Given the description of an element on the screen output the (x, y) to click on. 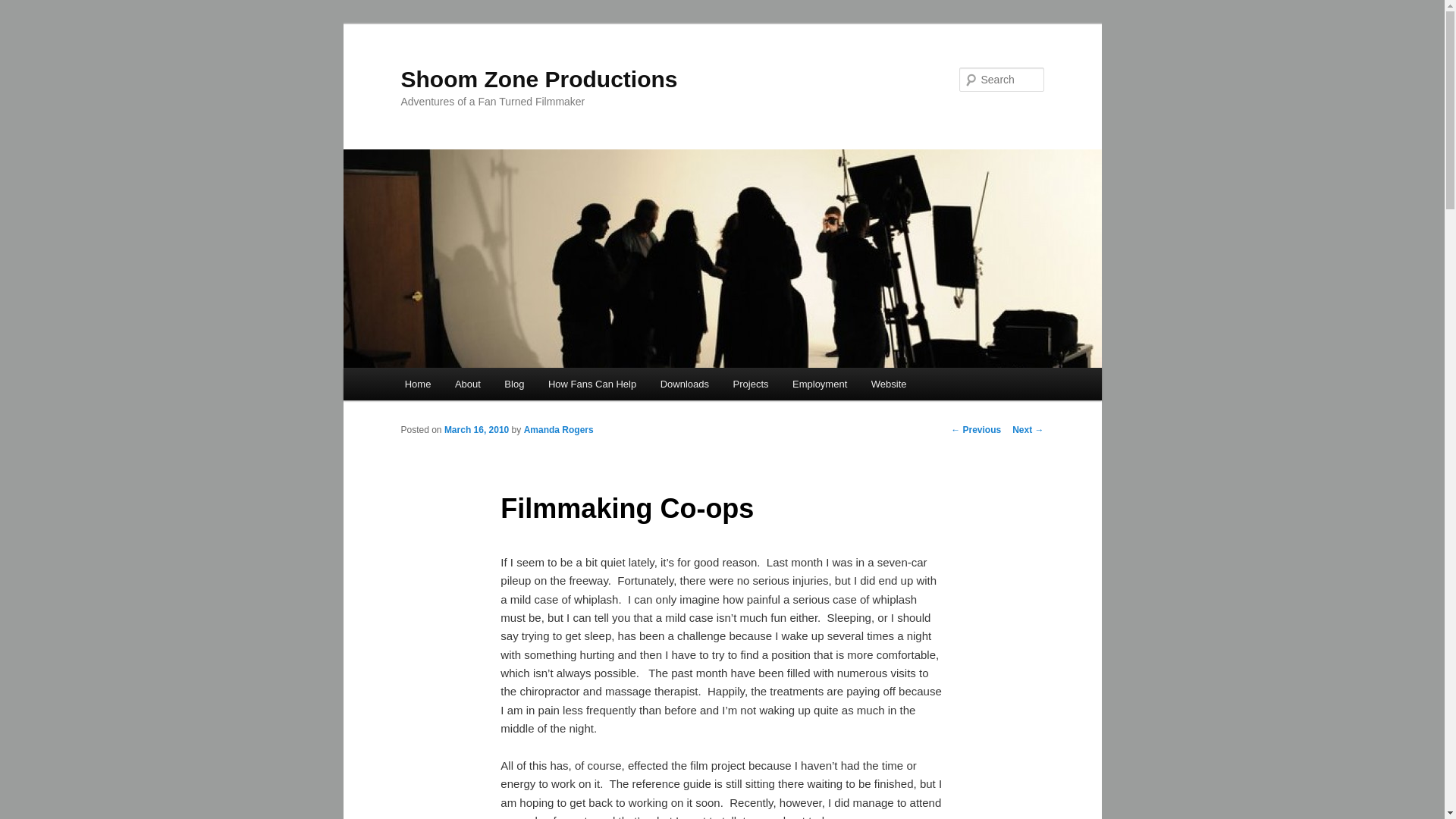
Blog (515, 383)
About (467, 383)
Employment (819, 383)
Downloads (683, 383)
View all posts by Amanda Rogers (559, 429)
Search (24, 8)
March 16, 2010 (476, 429)
Projects (750, 383)
Home (417, 383)
How Fans Can Help (591, 383)
